Given the description of an element on the screen output the (x, y) to click on. 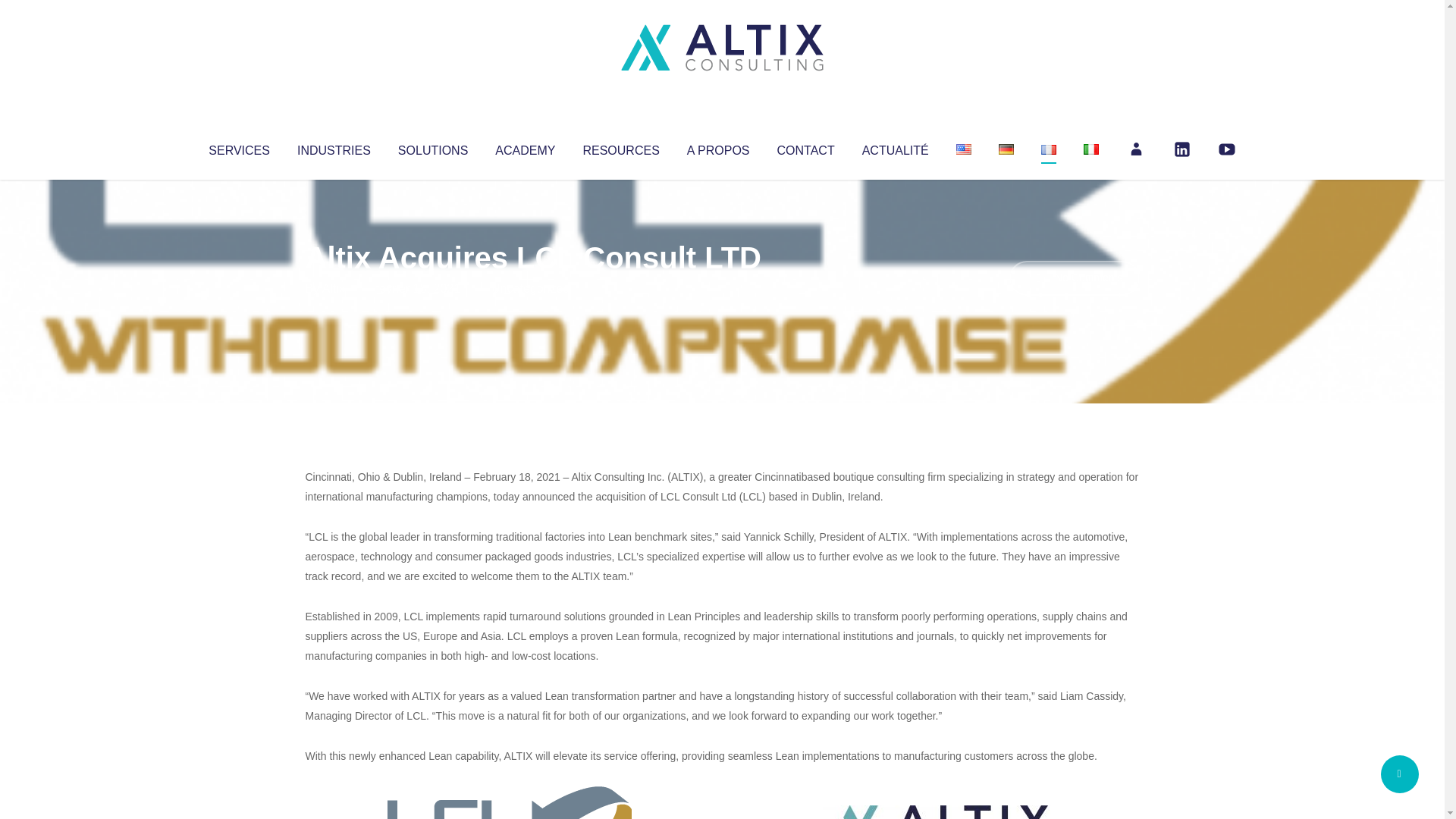
Altix (333, 287)
ACADEMY (524, 146)
SERVICES (238, 146)
A PROPOS (718, 146)
RESOURCES (620, 146)
Articles par Altix (333, 287)
No Comments (1073, 278)
INDUSTRIES (334, 146)
SOLUTIONS (432, 146)
Uncategorized (530, 287)
